Given the description of an element on the screen output the (x, y) to click on. 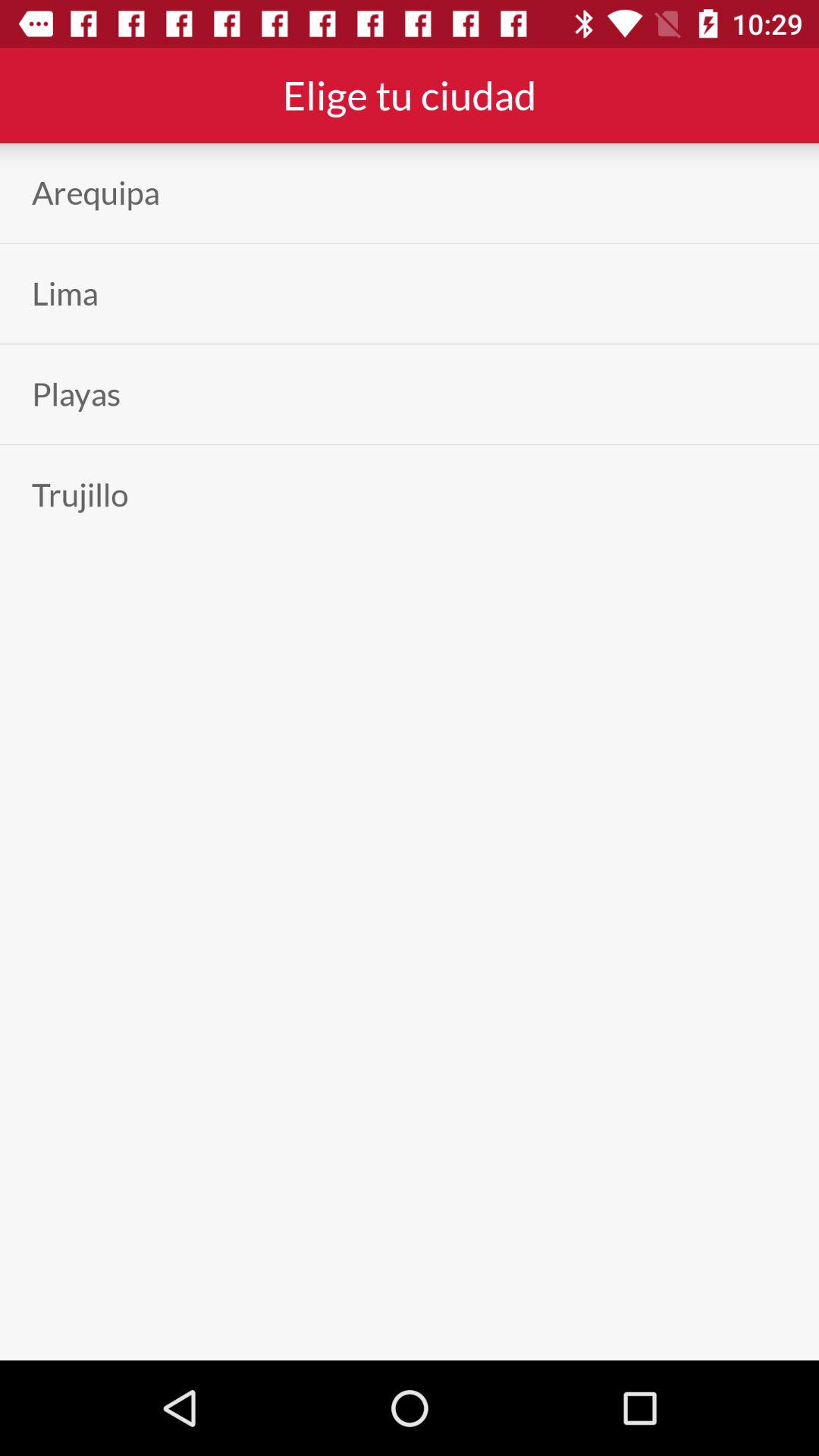
select the icon below arequipa item (64, 293)
